Given the description of an element on the screen output the (x, y) to click on. 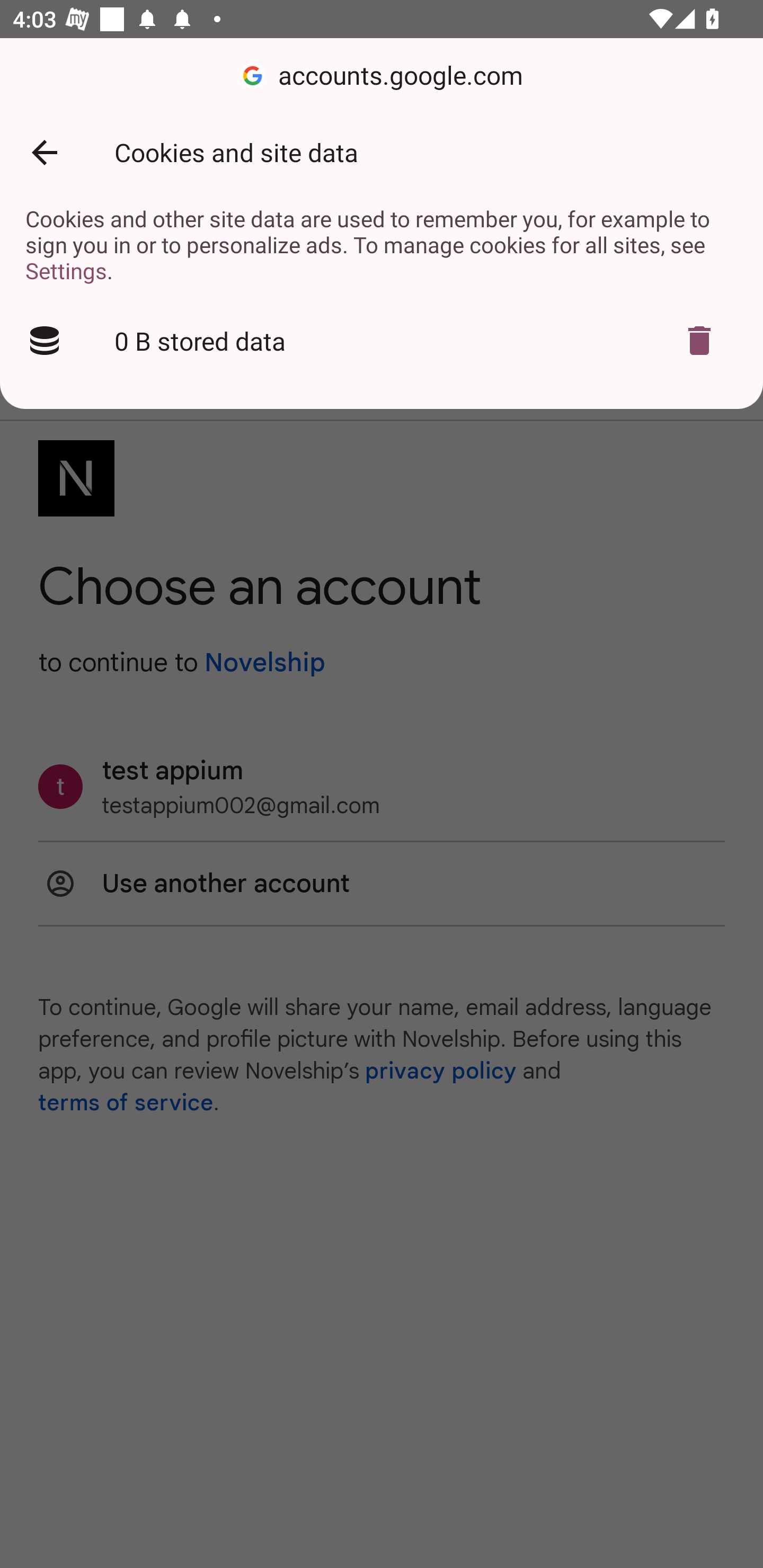
accounts.google.com (381, 75)
Back (44, 152)
0 B stored data Delete cookies? (381, 340)
